Given the description of an element on the screen output the (x, y) to click on. 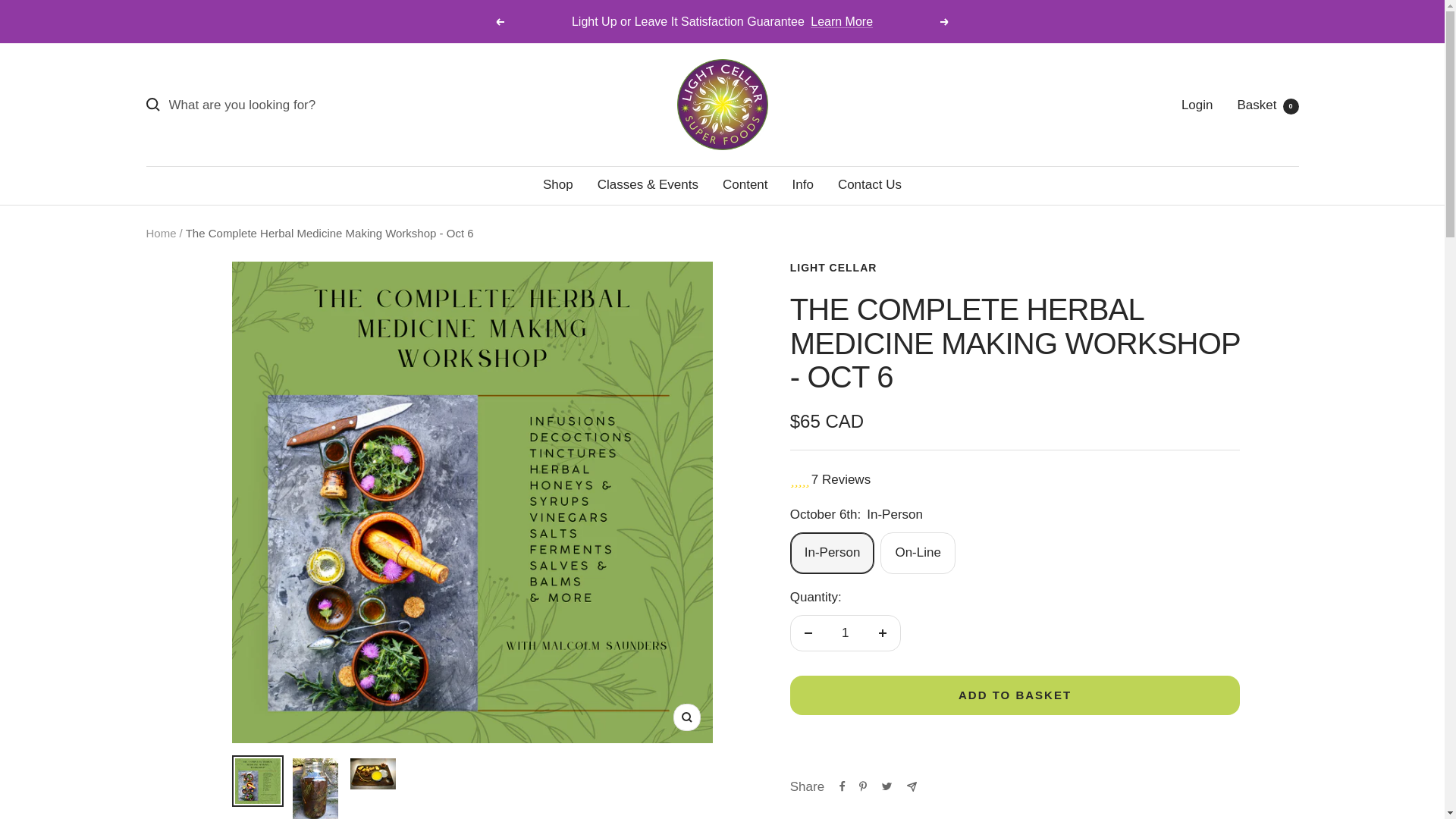
Learn More (841, 21)
Contact Us (869, 184)
Previous (499, 21)
ADD TO BASKET (1015, 694)
Light Cellar (722, 103)
1 (1267, 104)
Info (844, 632)
Zoom (802, 184)
